Given the description of an element on the screen output the (x, y) to click on. 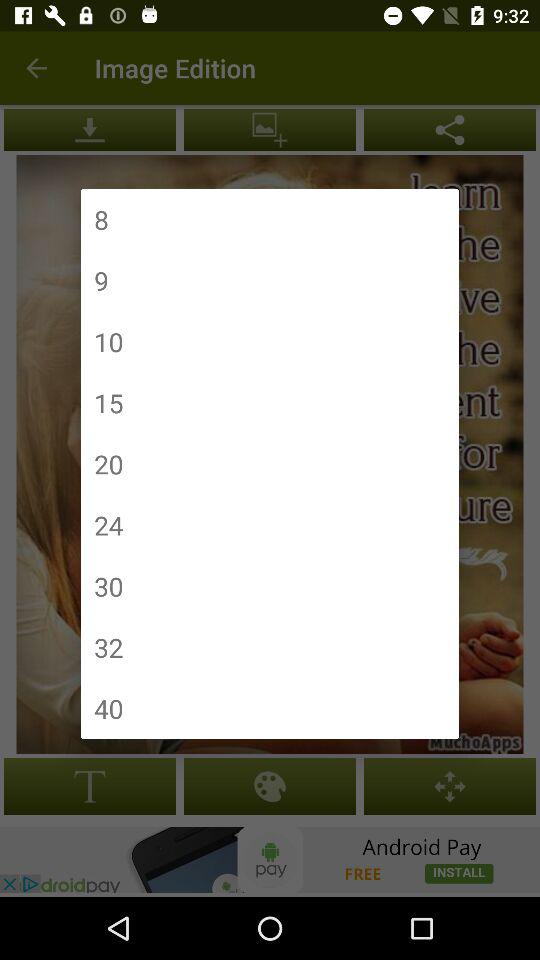
flip until 15 icon (108, 402)
